Given the description of an element on the screen output the (x, y) to click on. 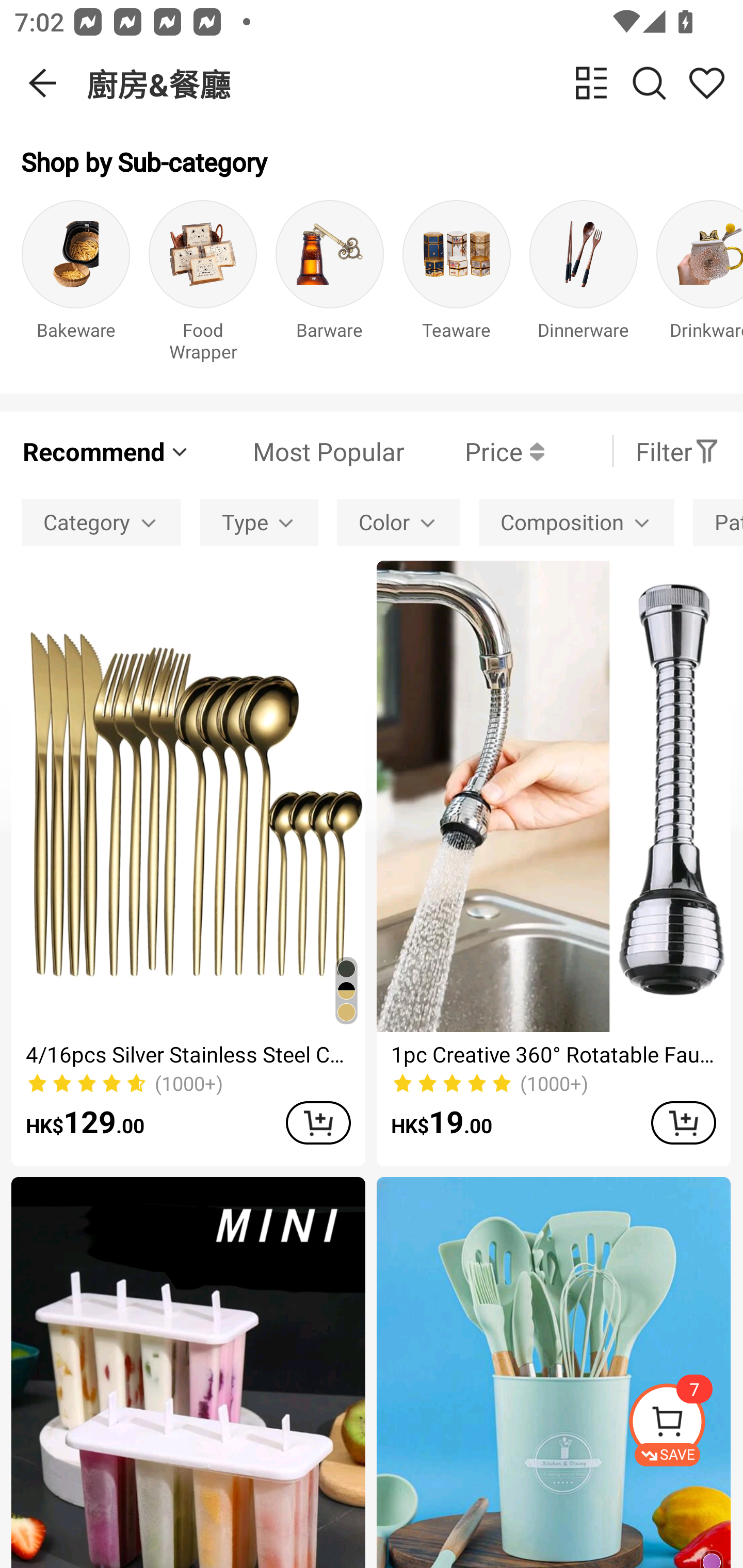
廚房&餐廳 change view Search Share (414, 82)
change view (591, 82)
Search (648, 82)
Share (706, 82)
Bakeware (75, 285)
Food Wrapper (202, 285)
Barware (329, 285)
Teaware (456, 285)
Dinnerware (583, 285)
Drinkware (699, 285)
Recommend (106, 450)
Most Popular (297, 450)
Price (474, 450)
Filter (677, 450)
Category (101, 521)
Type (258, 521)
Color (397, 521)
Composition (576, 521)
ADD TO CART (318, 1122)
ADD TO CART (683, 1122)
SAVE (685, 1424)
